Given the description of an element on the screen output the (x, y) to click on. 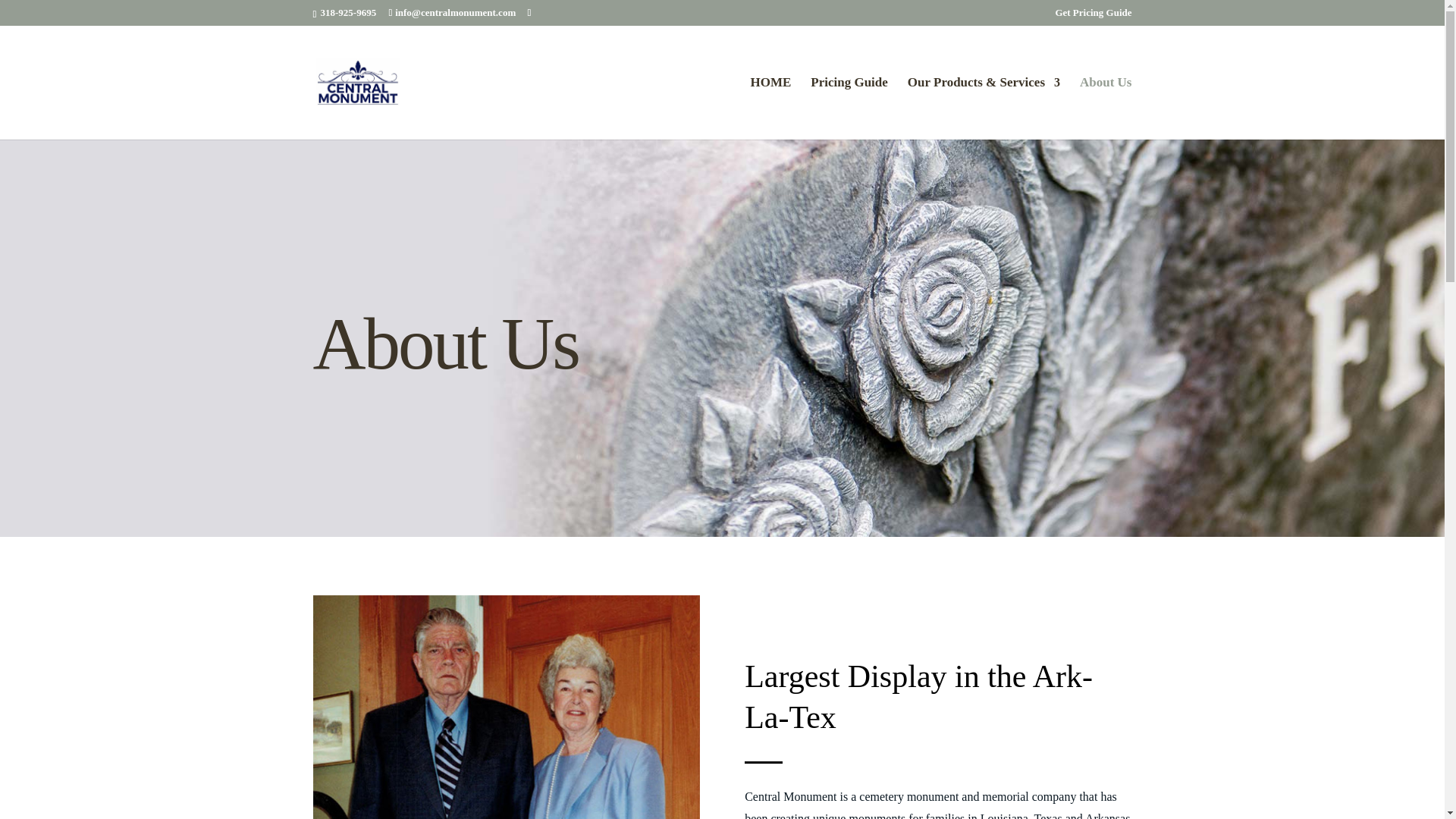
Get Pricing Guide (1092, 16)
Pricing Guide (849, 107)
Calvin-and-Bessie-Rawls (505, 707)
